Given the description of an element on the screen output the (x, y) to click on. 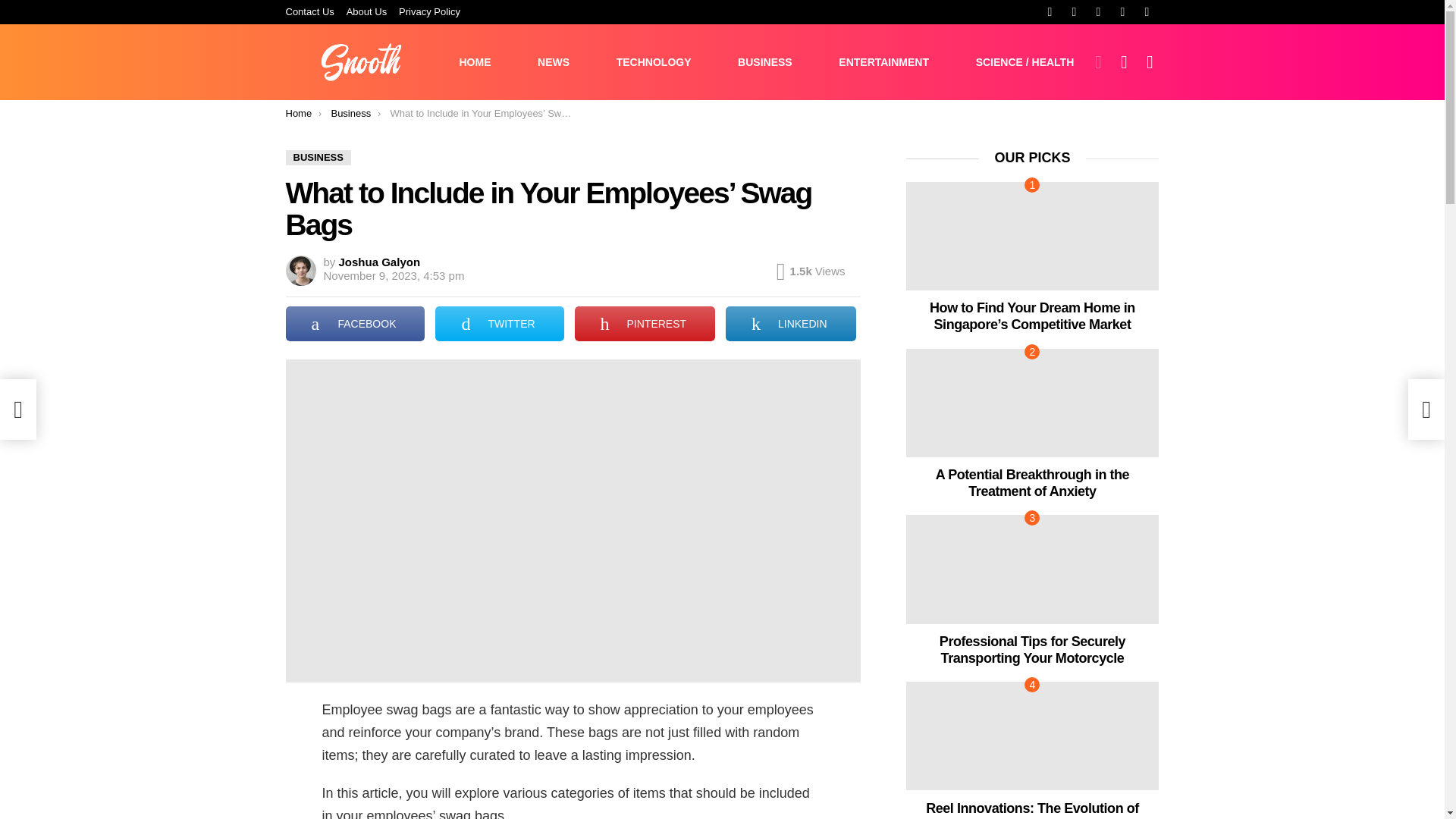
Contact Us (309, 12)
Sign up (1010, 163)
FACEBOOK (355, 323)
NEWS (552, 61)
instagram (1097, 11)
A Potential Breakthrough in the Treatment of Anxiety (1031, 402)
Professional Tips for Securely Transporting Your Motorcycle (1031, 569)
youtube (1146, 11)
HOME (475, 61)
TWITTER (499, 323)
